Given the description of an element on the screen output the (x, y) to click on. 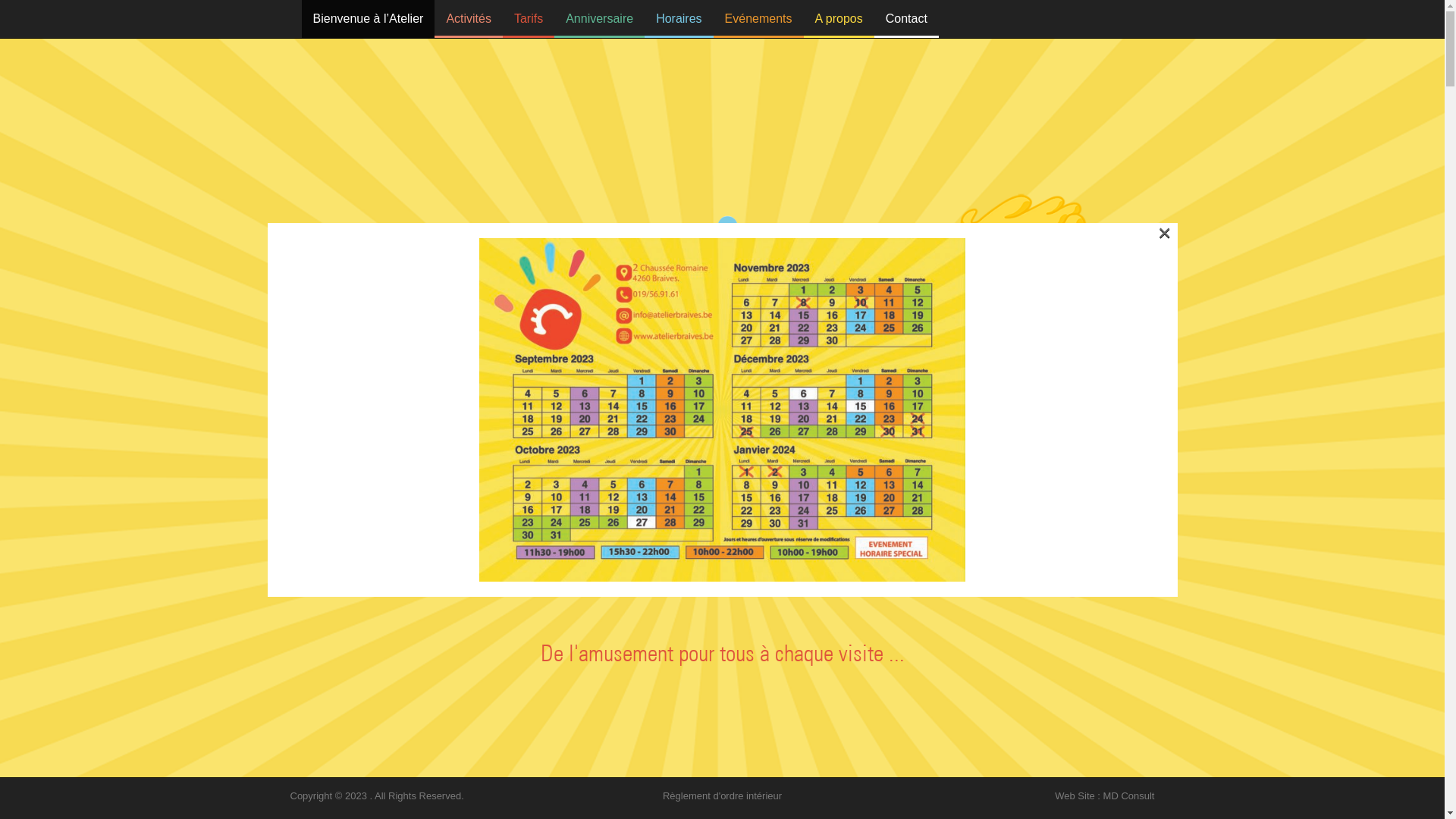
Anniversaire Element type: text (599, 18)
MD Consult Element type: text (1128, 795)
Contact Element type: text (906, 18)
Skip to content Element type: text (341, 8)
Horaires Element type: text (678, 18)
Tarifs Element type: text (528, 18)
A propos Element type: text (838, 18)
